Given the description of an element on the screen output the (x, y) to click on. 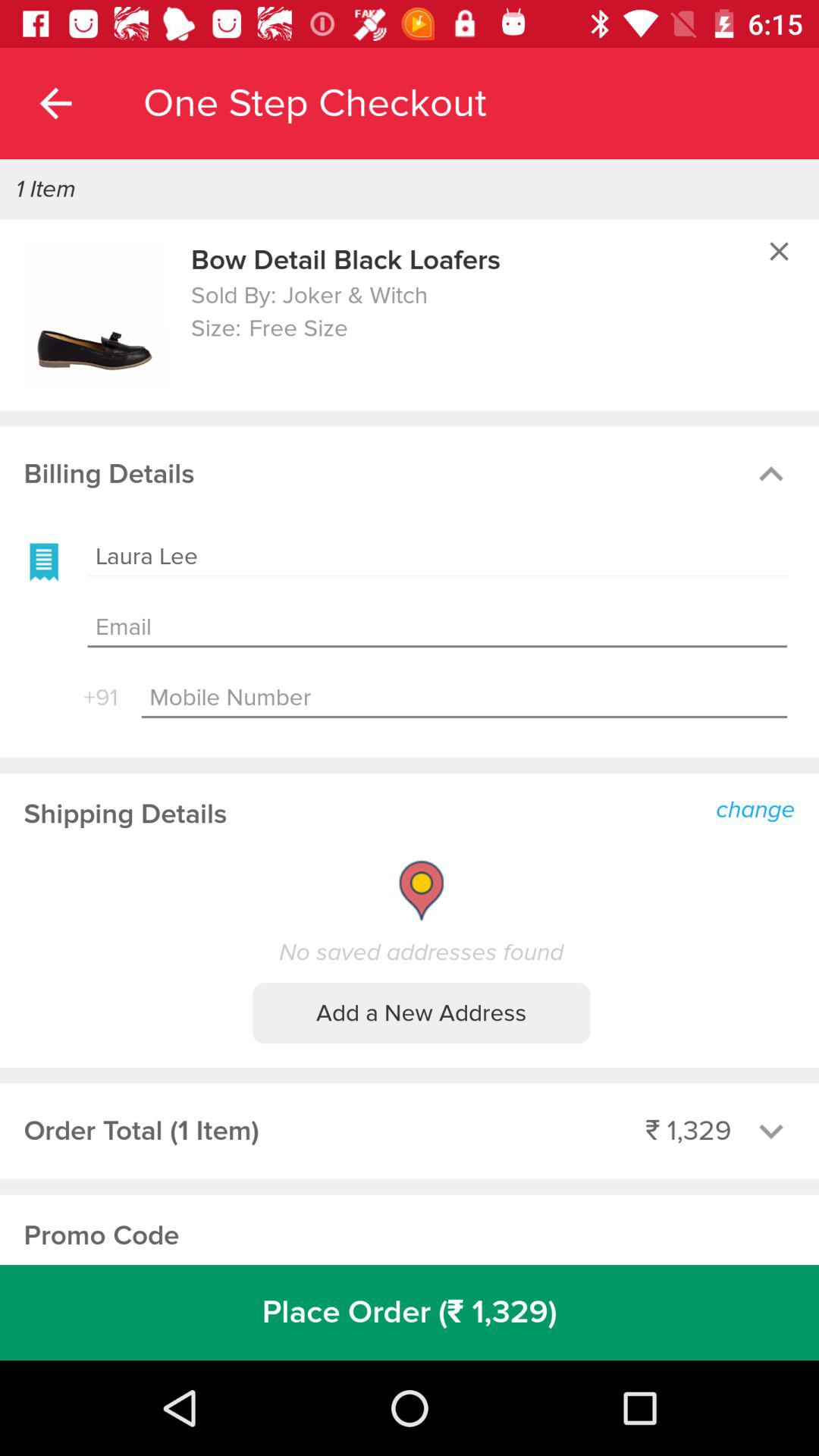
open item (95, 314)
